Given the description of an element on the screen output the (x, y) to click on. 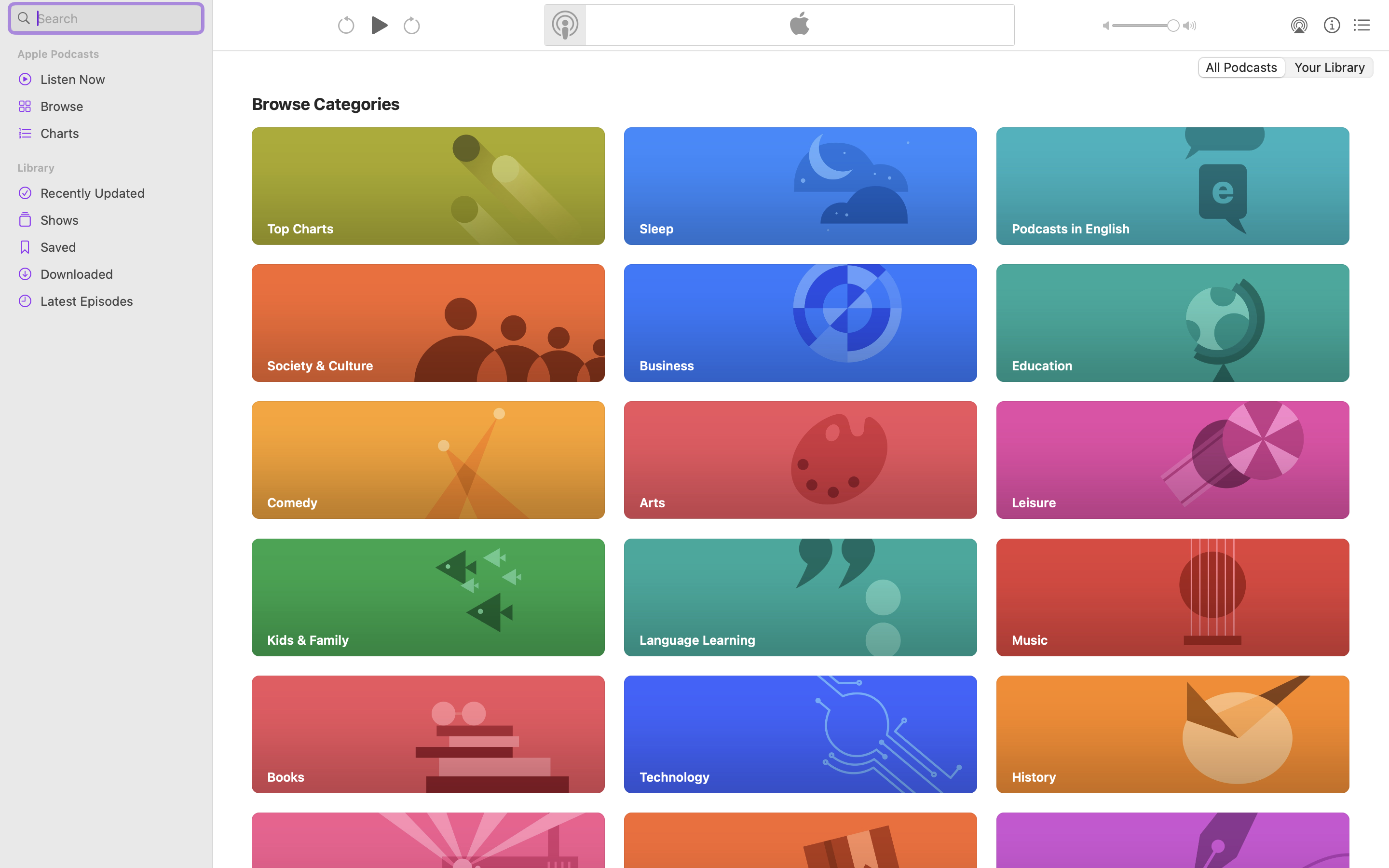
1.0 Element type: AXSlider (1145, 25)
1 Element type: AXRadioButton (1240, 67)
0 Element type: AXRadioButton (1330, 67)
